Given the description of an element on the screen output the (x, y) to click on. 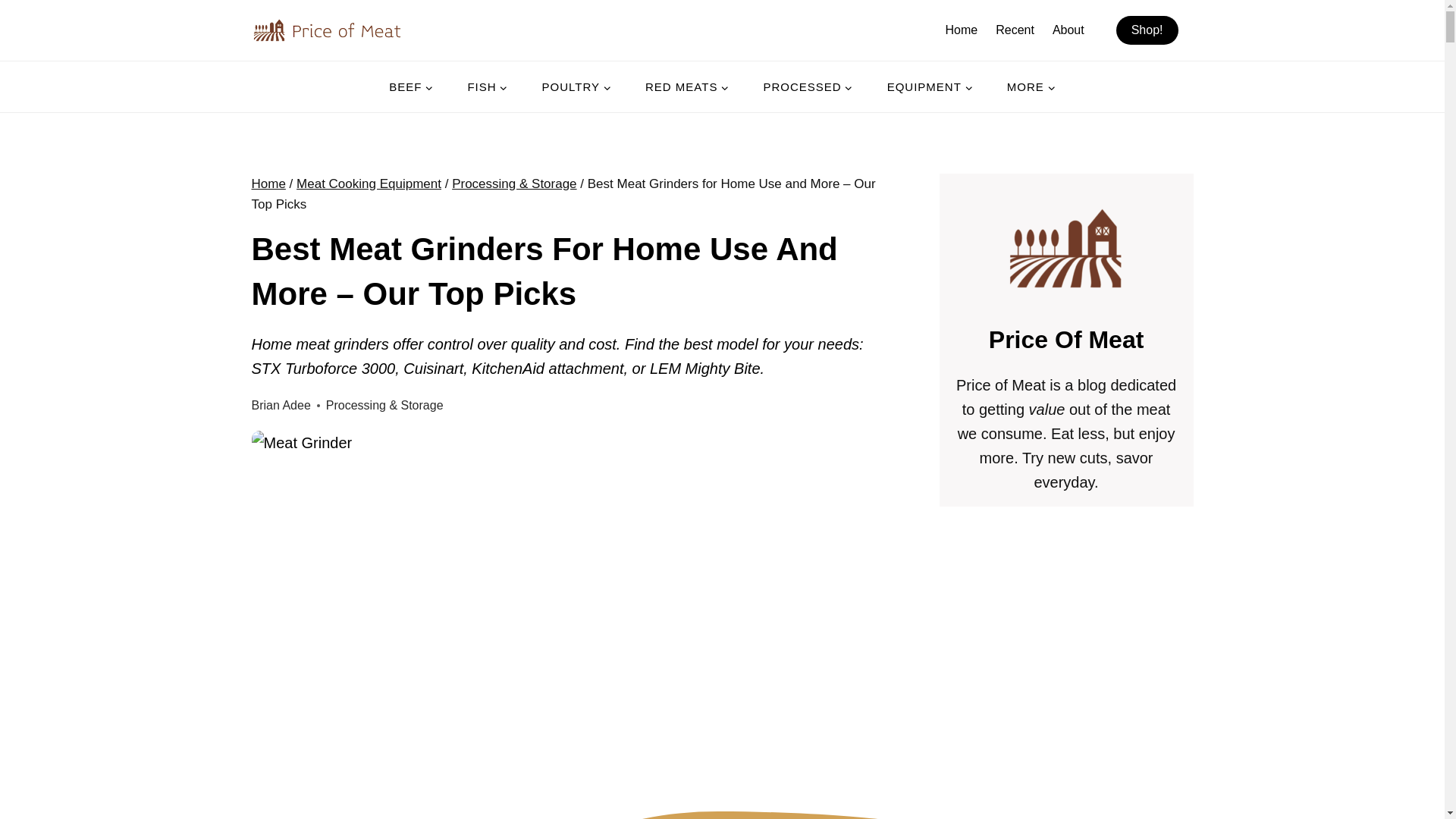
PROCESSED (807, 86)
Recent (1015, 30)
FISH (486, 86)
POULTRY (575, 86)
Shop! (1146, 30)
BEEF (410, 86)
Home (961, 30)
About (1068, 30)
RED MEATS (686, 86)
